Given the description of an element on the screen output the (x, y) to click on. 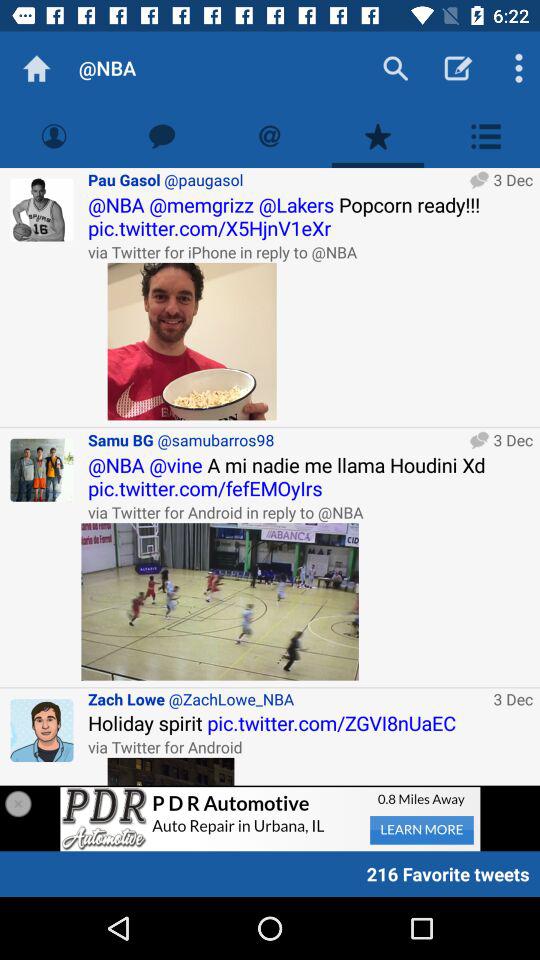
turn off item to the left of 3 dec item (287, 698)
